Given the description of an element on the screen output the (x, y) to click on. 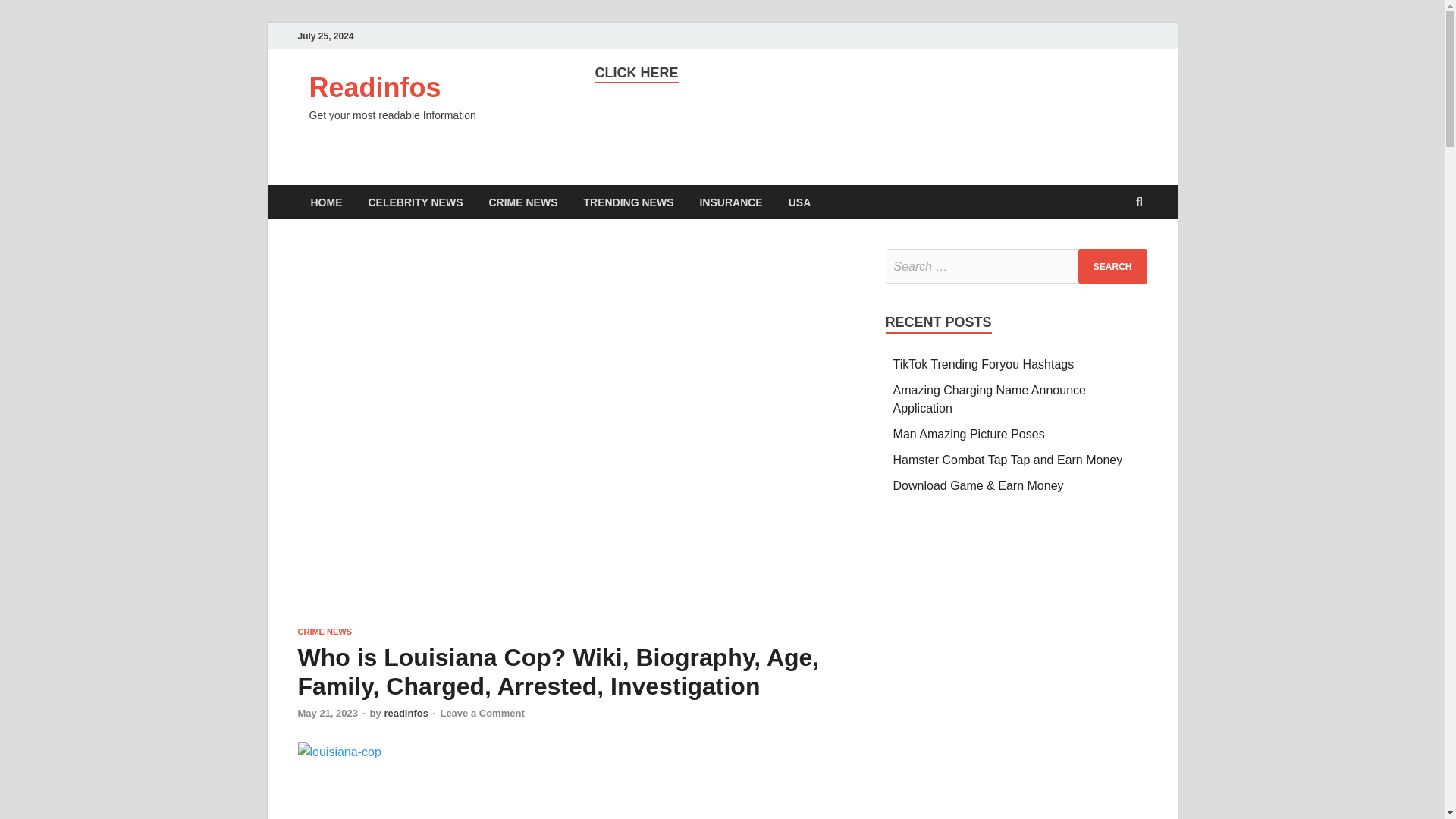
Readinfos (374, 87)
TRENDING NEWS (627, 202)
Search (1112, 266)
May 21, 2023 (327, 713)
readinfos (406, 713)
Leave a Comment (481, 713)
USA (800, 202)
CELEBRITY NEWS (415, 202)
Search (1112, 266)
HOME (326, 202)
INSURANCE (729, 202)
CRIME NEWS (523, 202)
CRIME NEWS (324, 631)
